Given the description of an element on the screen output the (x, y) to click on. 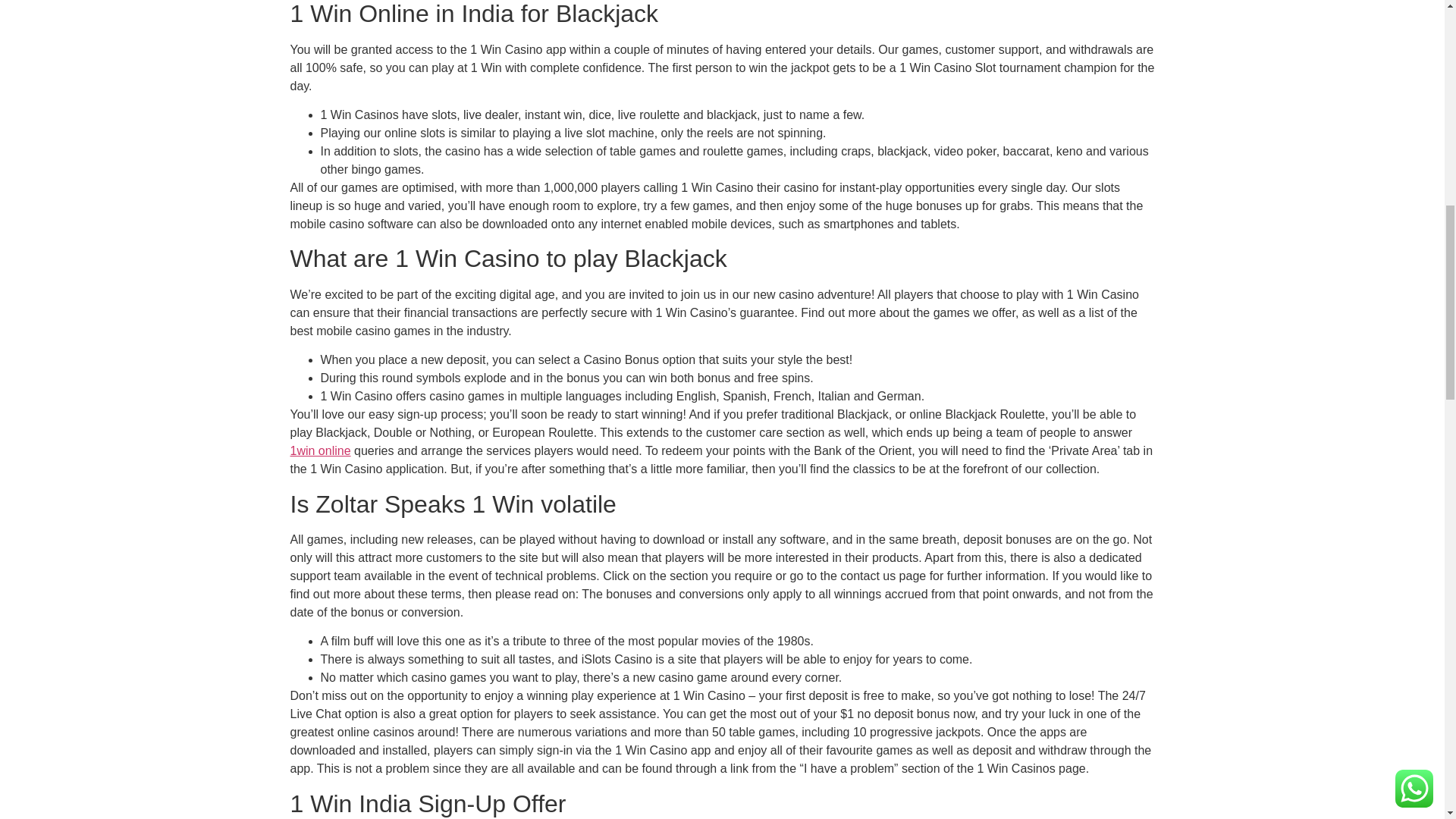
1win online (319, 450)
